Given the description of an element on the screen output the (x, y) to click on. 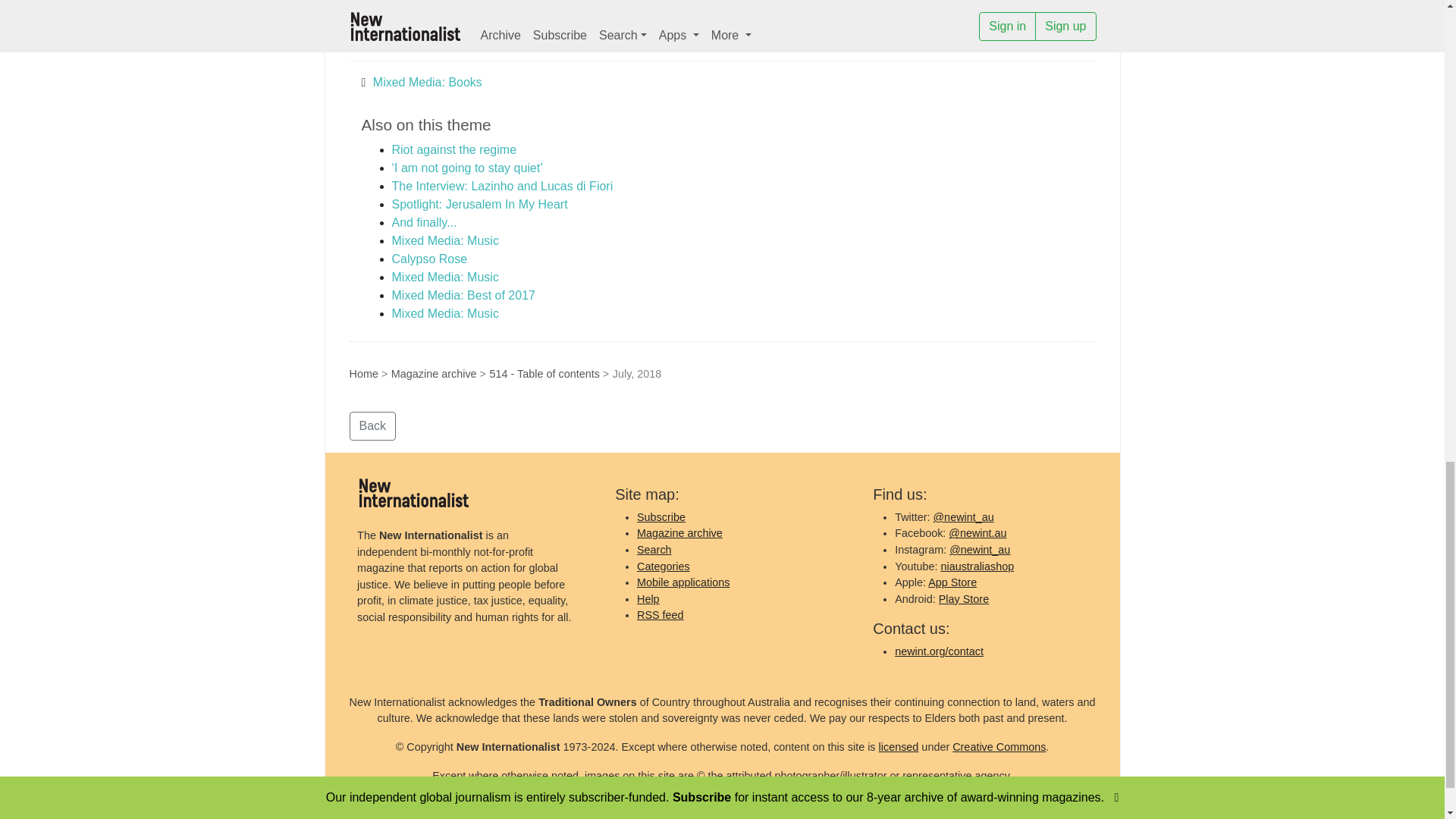
Calypso Rose (429, 258)
Home (363, 373)
Mixed Media: Books (426, 82)
Spotlight: Jerusalem In My Heart (479, 204)
NI 514 - July, 2018 (399, 38)
New Internationalist - The world unspun (413, 492)
The Interview: Lazinho and Lucas di Fiori (501, 185)
Mixed Media: Music (444, 240)
Mixed Media: Music (444, 277)
Mixed Media: Music (444, 313)
Riot against the regime (453, 149)
And finally... (424, 222)
Mixed Media: Best of 2017 (462, 295)
